Given the description of an element on the screen output the (x, y) to click on. 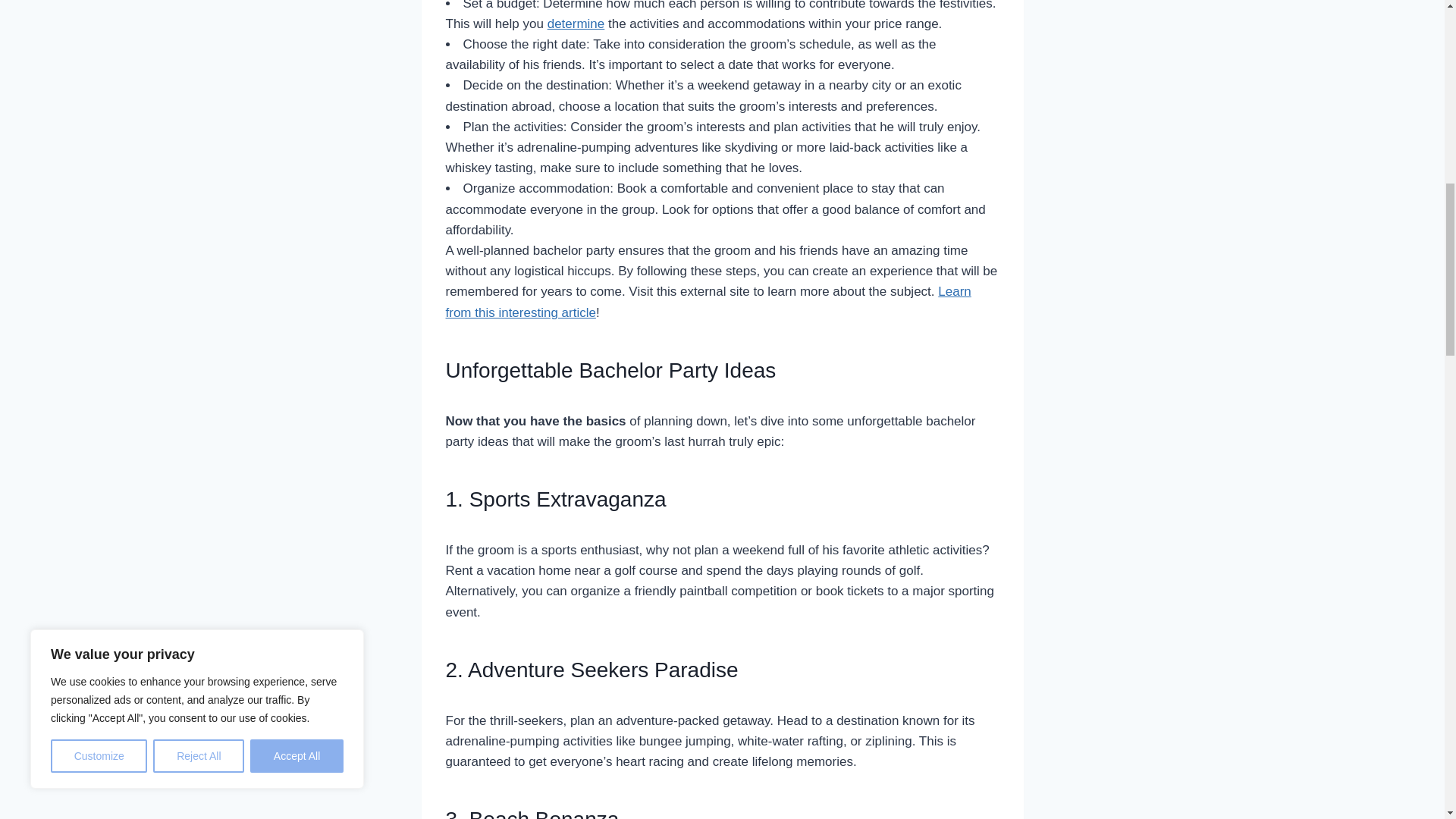
determine (576, 23)
Learn from this interesting article (708, 301)
